Given the description of an element on the screen output the (x, y) to click on. 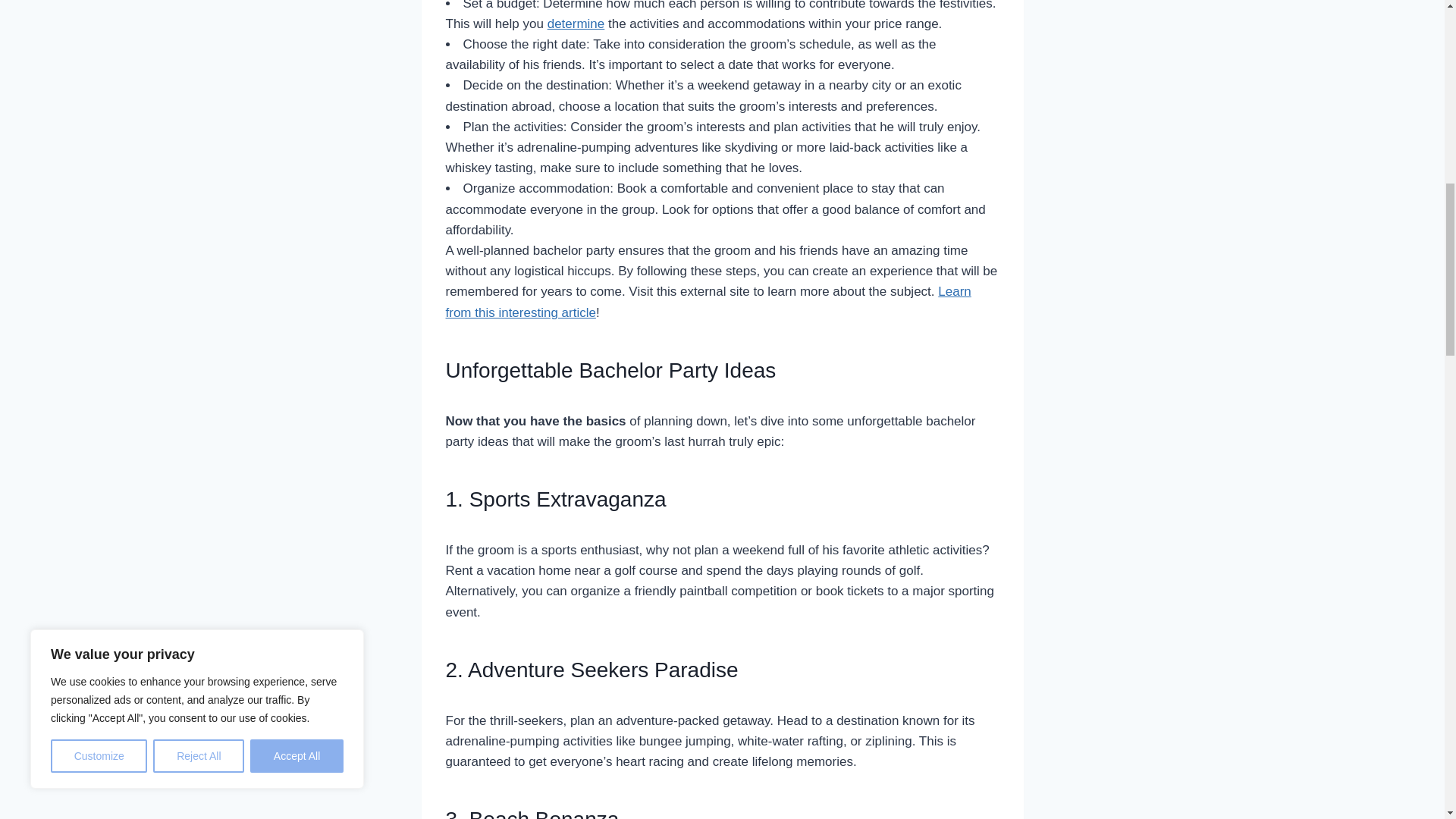
determine (576, 23)
Learn from this interesting article (708, 301)
